Given the description of an element on the screen output the (x, y) to click on. 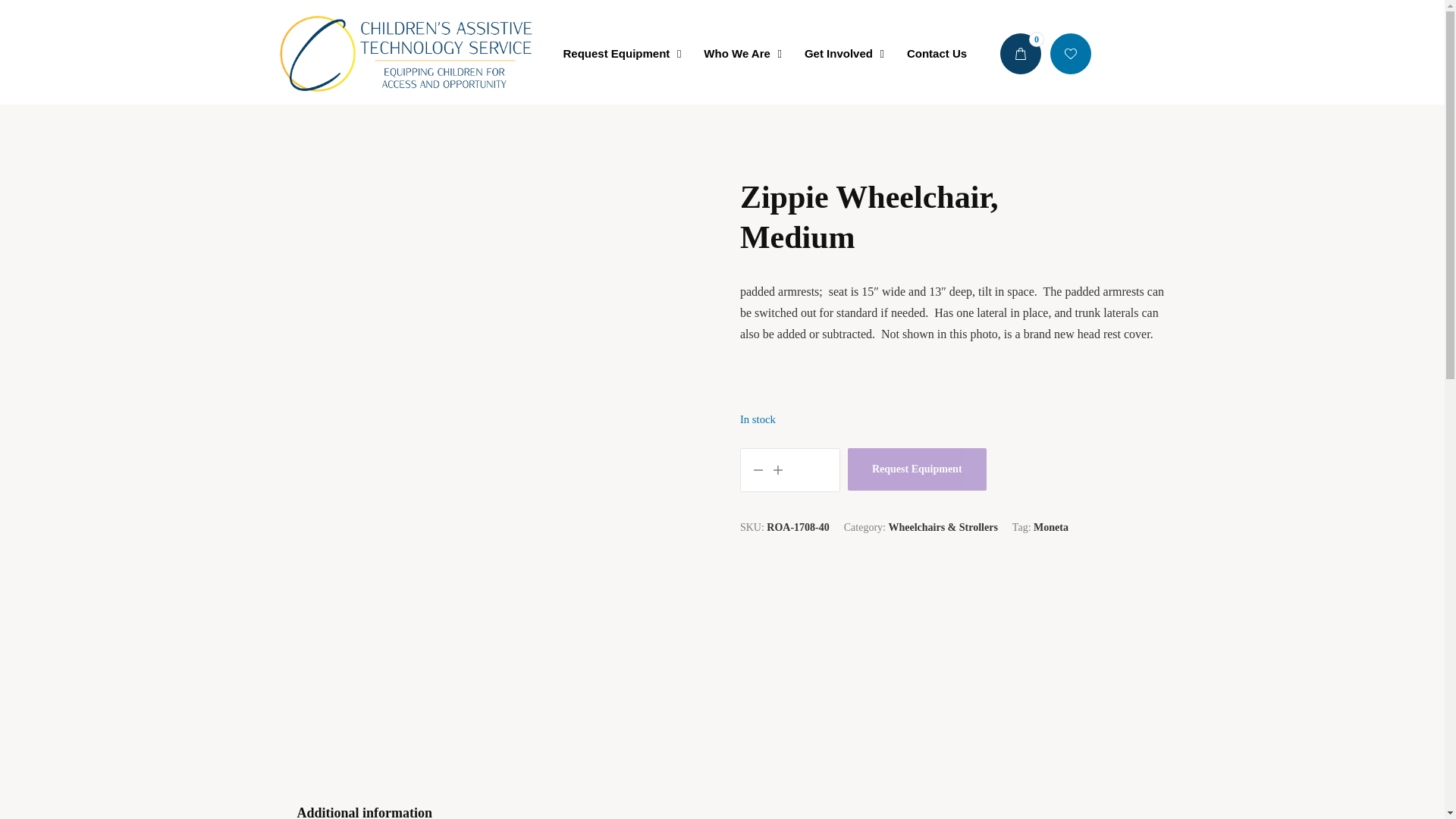
Who We Are (738, 53)
Request Equipment (917, 468)
Contact Us (936, 53)
Get Involved (840, 53)
0 (764, 53)
Request Equipment (1020, 53)
Additional information (617, 53)
Moneta (365, 805)
